Given the description of an element on the screen output the (x, y) to click on. 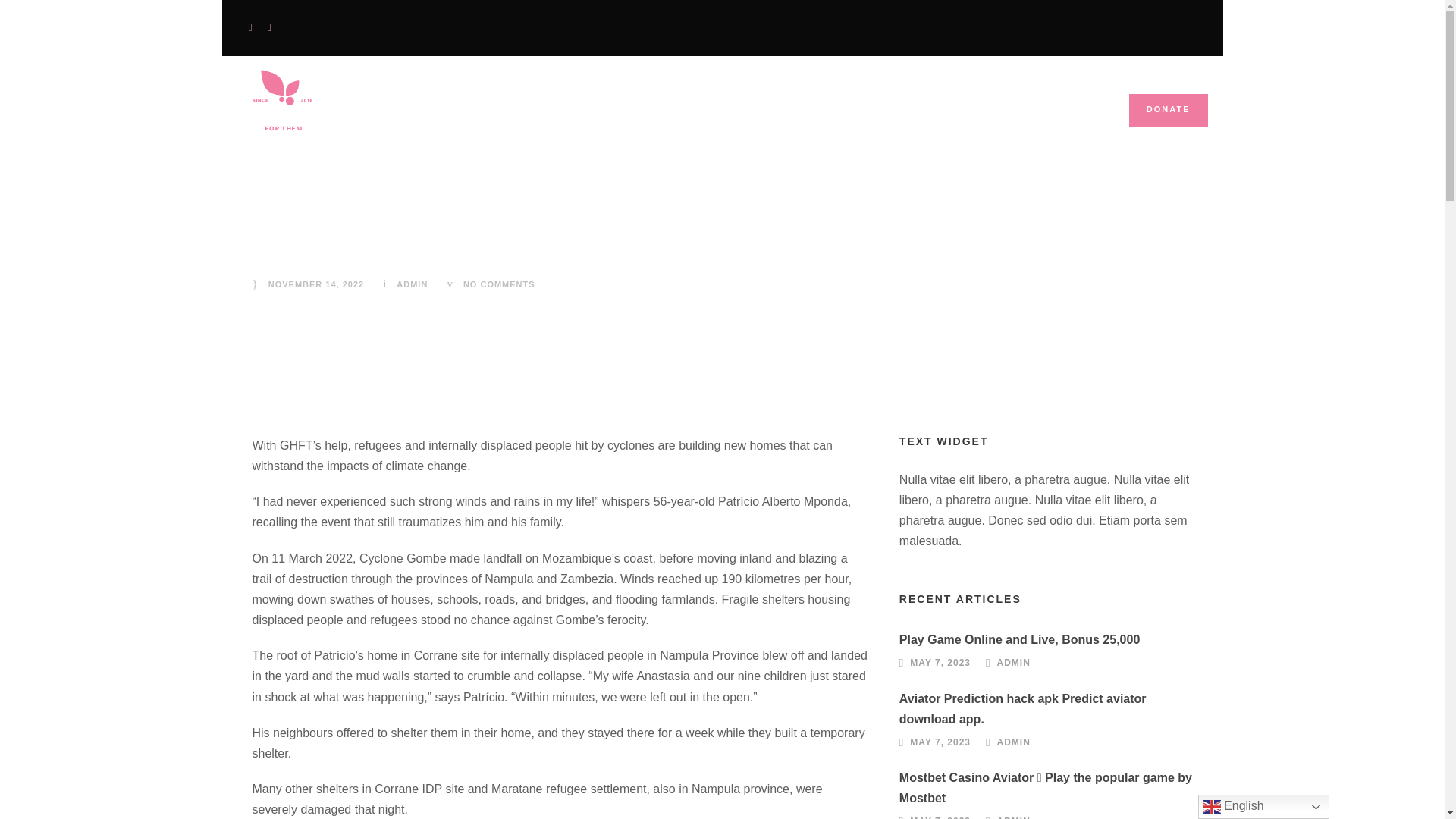
HOME (577, 118)
Play Game Online and Live, Bonus 25,000 (1019, 639)
Posts by admin (1013, 742)
MAY 7, 2023 (940, 662)
asad2 (283, 101)
MAY 7, 2023 (940, 742)
ADMIN (1013, 742)
Posts by admin (412, 284)
ABOUT US (665, 118)
NO COMMENTS (499, 284)
